Given the description of an element on the screen output the (x, y) to click on. 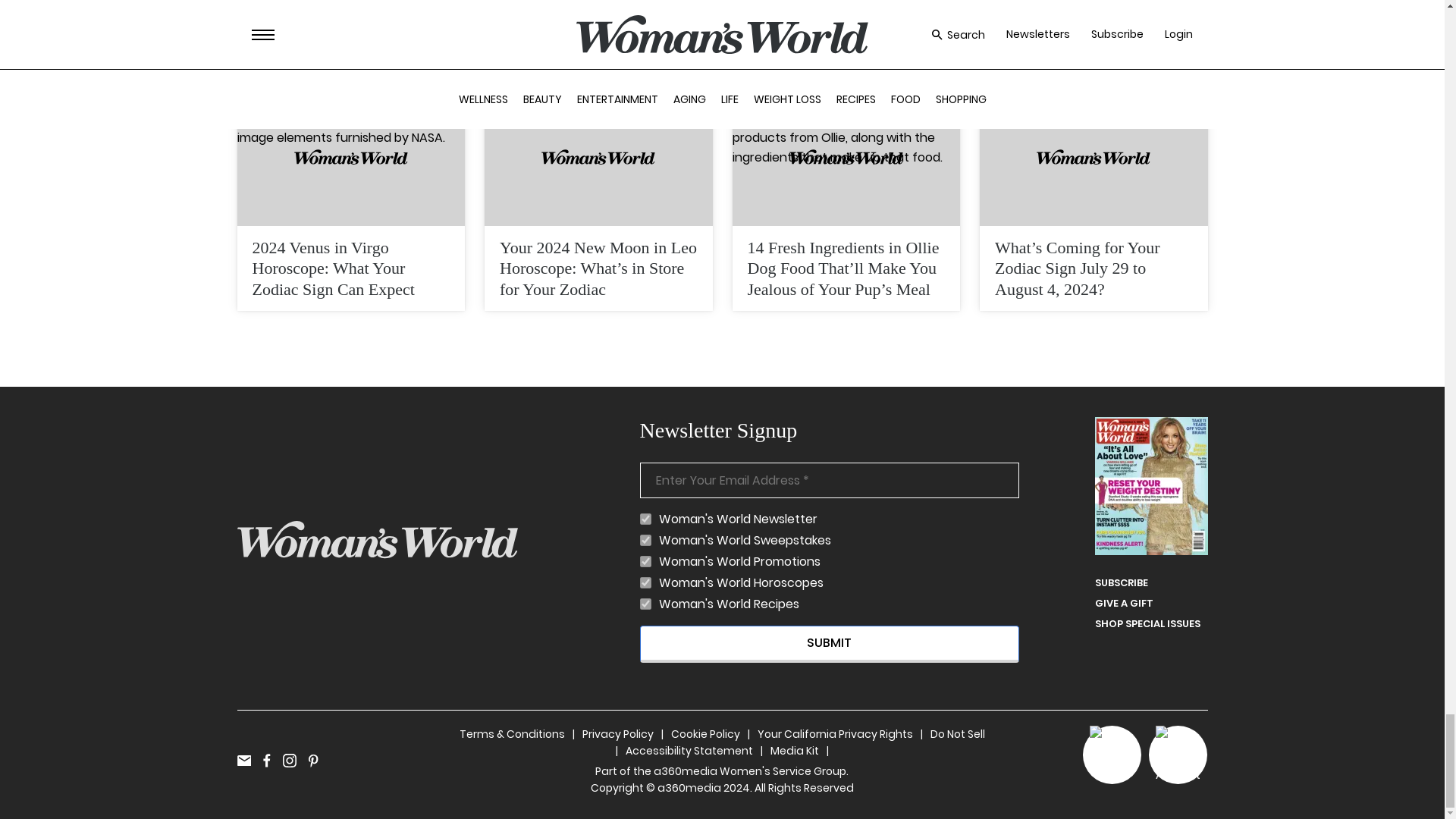
1 (645, 582)
1 (645, 603)
1 (645, 561)
1 (645, 518)
1 (645, 540)
